Given the description of an element on the screen output the (x, y) to click on. 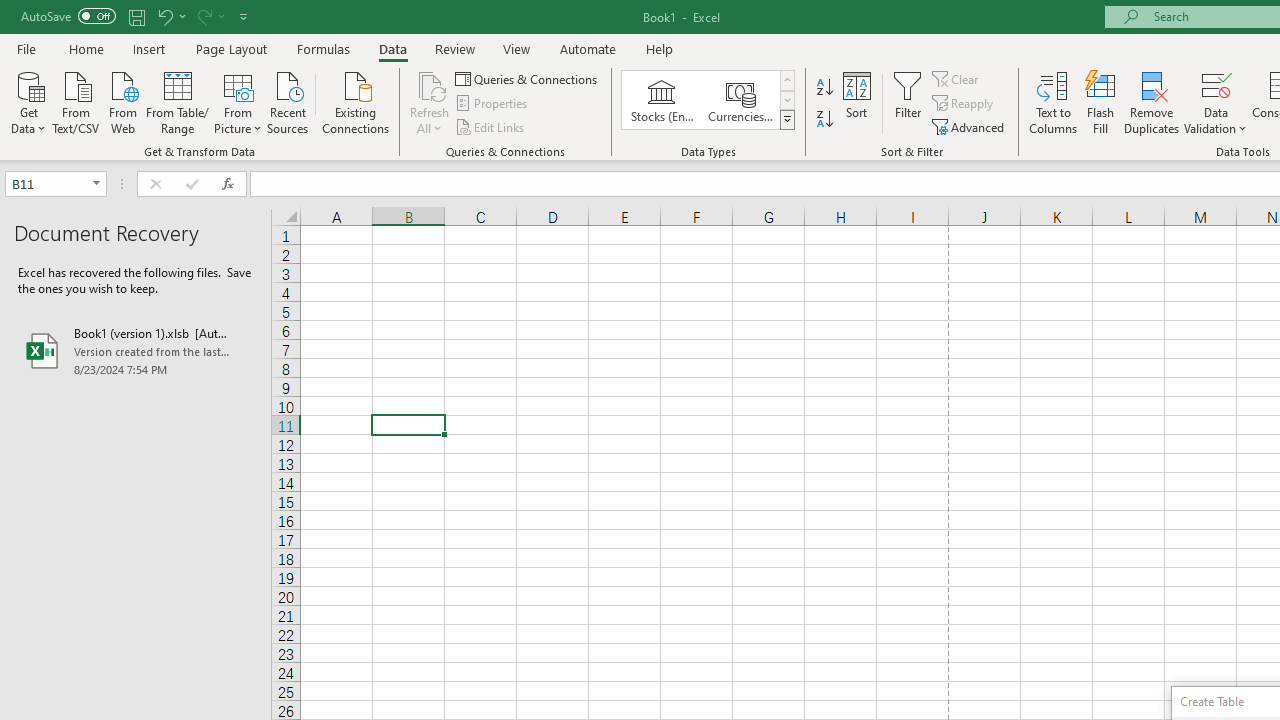
From Picture (238, 101)
Filter (908, 102)
Advanced... (970, 126)
From Text/CSV (75, 101)
Properties (492, 103)
